Given the description of an element on the screen output the (x, y) to click on. 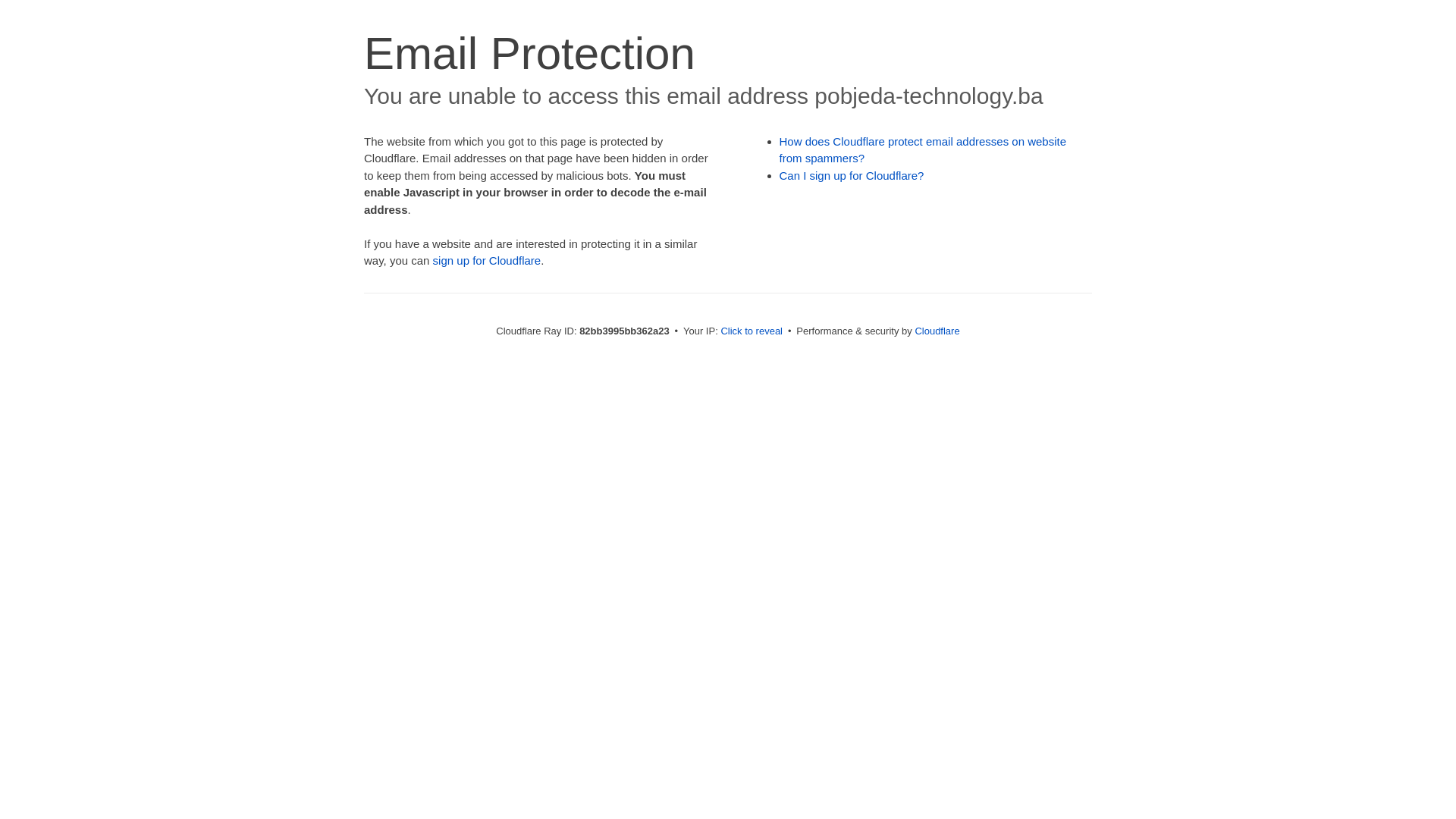
Click to reveal Element type: text (751, 330)
Can I sign up for Cloudflare? Element type: text (851, 175)
sign up for Cloudflare Element type: text (487, 260)
Cloudflare Element type: text (936, 330)
